Given the description of an element on the screen output the (x, y) to click on. 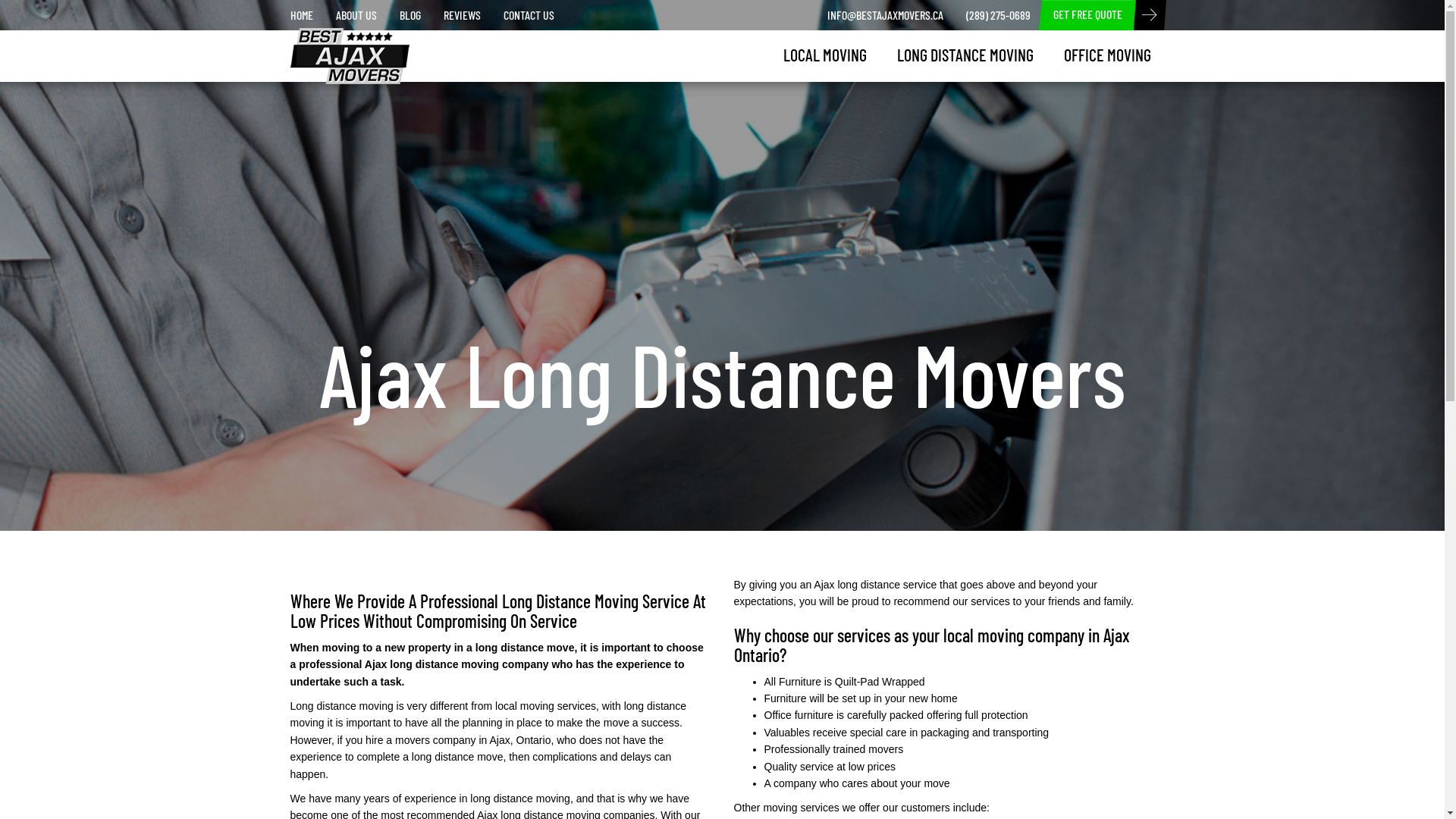
(289) 275-0689 Element type: text (997, 15)
OFFICE MOVING Element type: text (1106, 54)
BLOG Element type: text (410, 15)
LONG DISTANCE MOVING Element type: text (964, 54)
Best Ajax Movers Element type: hover (337, 46)
INFO@BESTAJAXMOVERS.CA Element type: text (884, 15)
GET FREE QUOTE Element type: text (1087, 15)
ABOUT US Element type: text (356, 15)
HOME Element type: text (301, 15)
CONTACT US Element type: text (527, 15)
REVIEWS Element type: text (462, 15)
LOCAL MOVING Element type: text (824, 54)
